Given the description of an element on the screen output the (x, y) to click on. 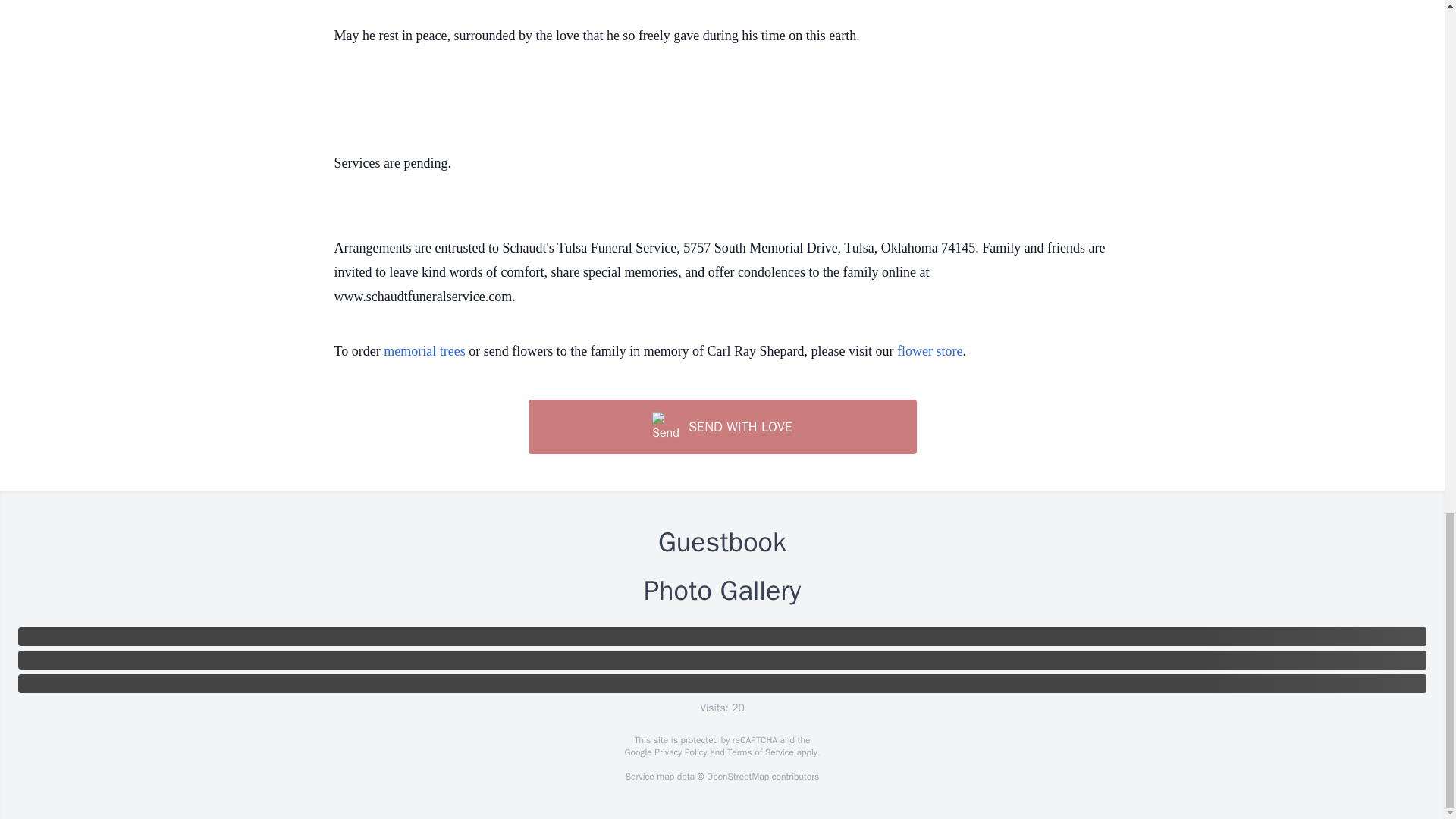
Privacy Policy (679, 752)
SEND WITH LOVE (721, 426)
flower store (929, 350)
OpenStreetMap (737, 776)
Terms of Service (759, 752)
memorial trees (424, 350)
